Given the description of an element on the screen output the (x, y) to click on. 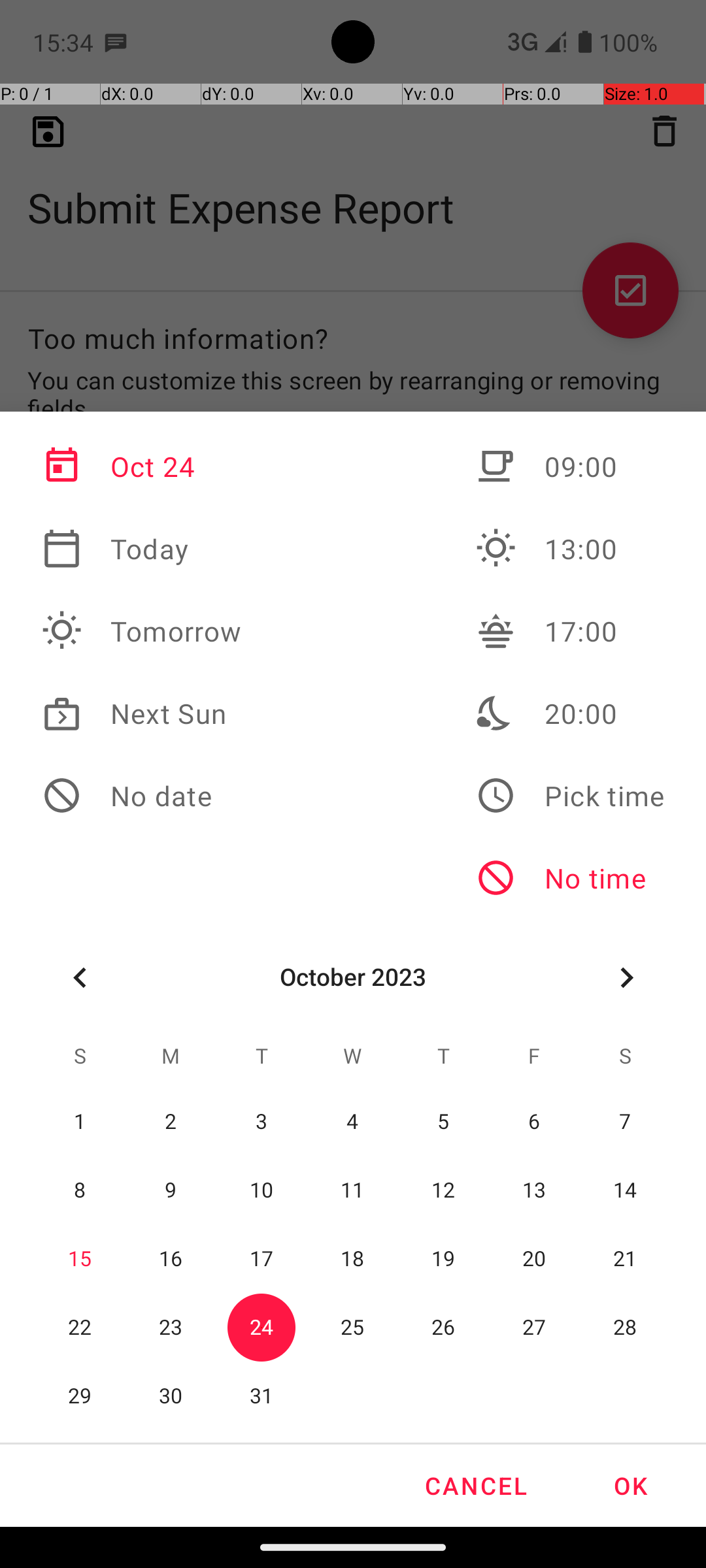
Oct 24 Element type: android.widget.CompoundButton (141, 466)
